Given the description of an element on the screen output the (x, y) to click on. 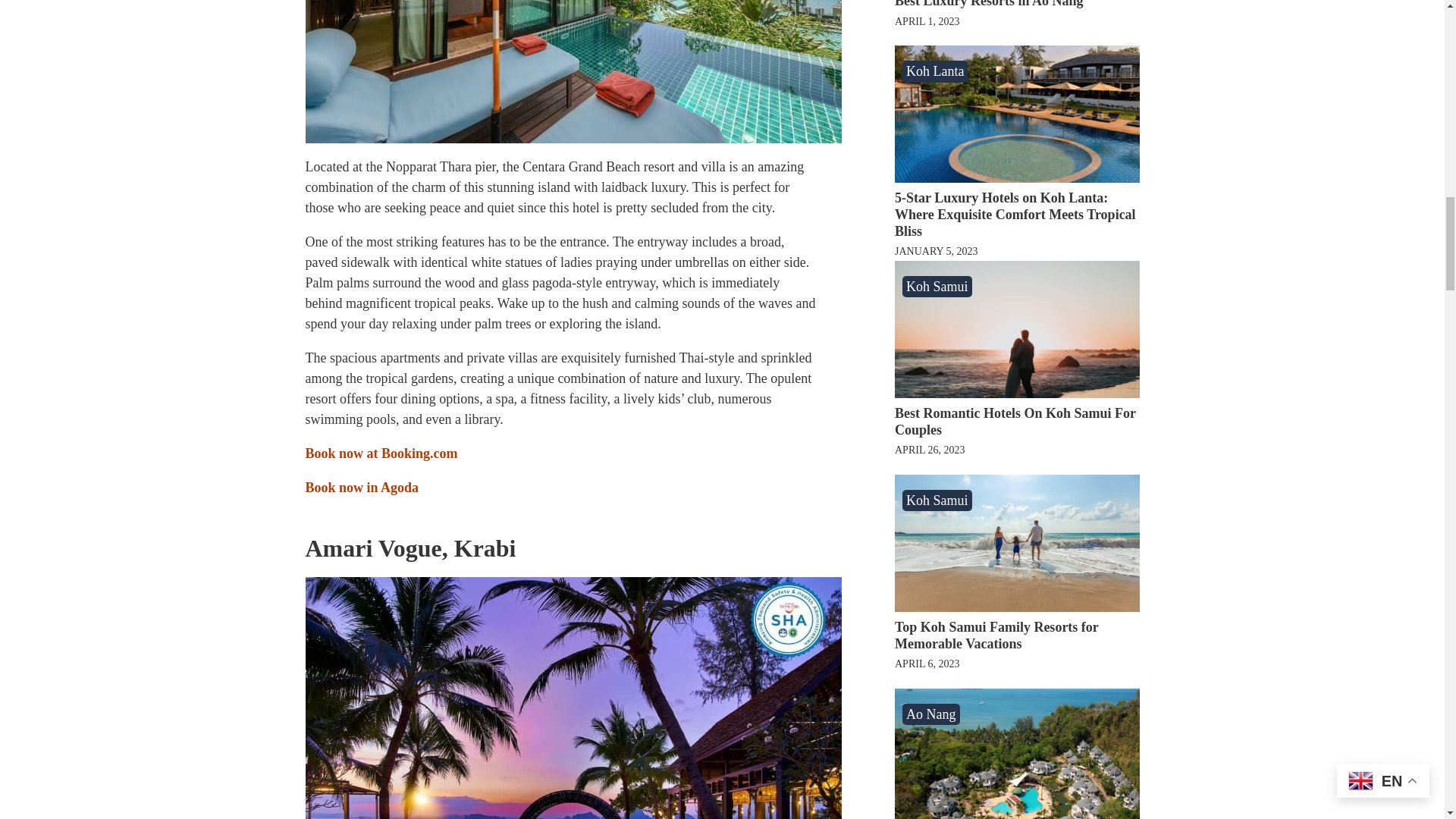
Luxury Hotels In Krabi (572, 71)
Luxury Hotels In Krabi (572, 698)
